Given the description of an element on the screen output the (x, y) to click on. 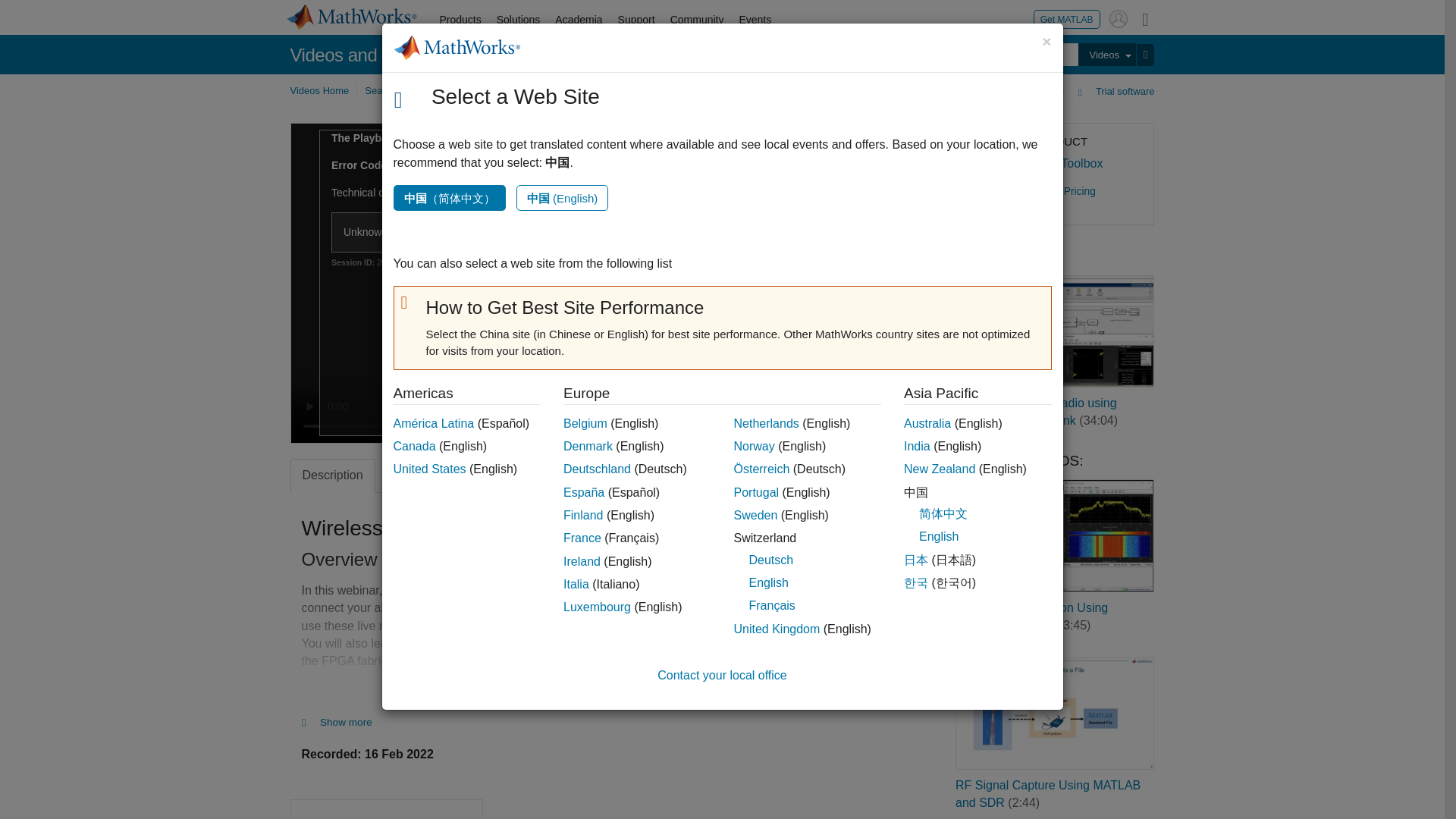
Sign In to Your MathWorks Account (1117, 18)
Close Modal Dialog (812, 146)
Community (697, 19)
Academia (578, 19)
Get MATLAB (1066, 18)
Events (754, 19)
Solutions (518, 19)
Products (460, 19)
Support (636, 19)
